Given the description of an element on the screen output the (x, y) to click on. 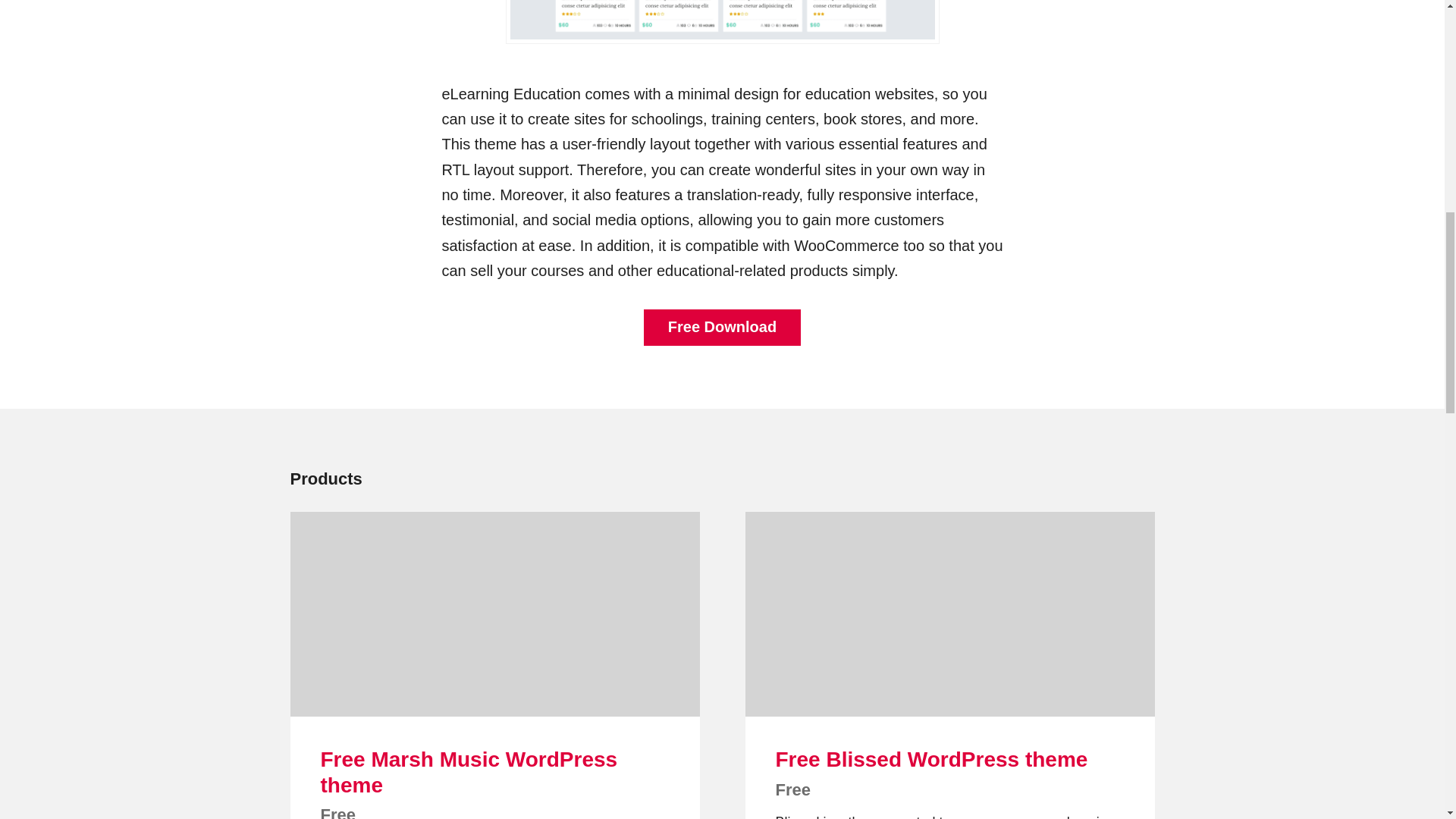
Continue reading Free Blissed WordPress theme (949, 613)
Free Marsh Music WordPress theme (468, 771)
Free Download (721, 327)
Continue reading Free Marsh Music WordPress theme (493, 613)
Free Blissed WordPress theme (930, 759)
